Given the description of an element on the screen output the (x, y) to click on. 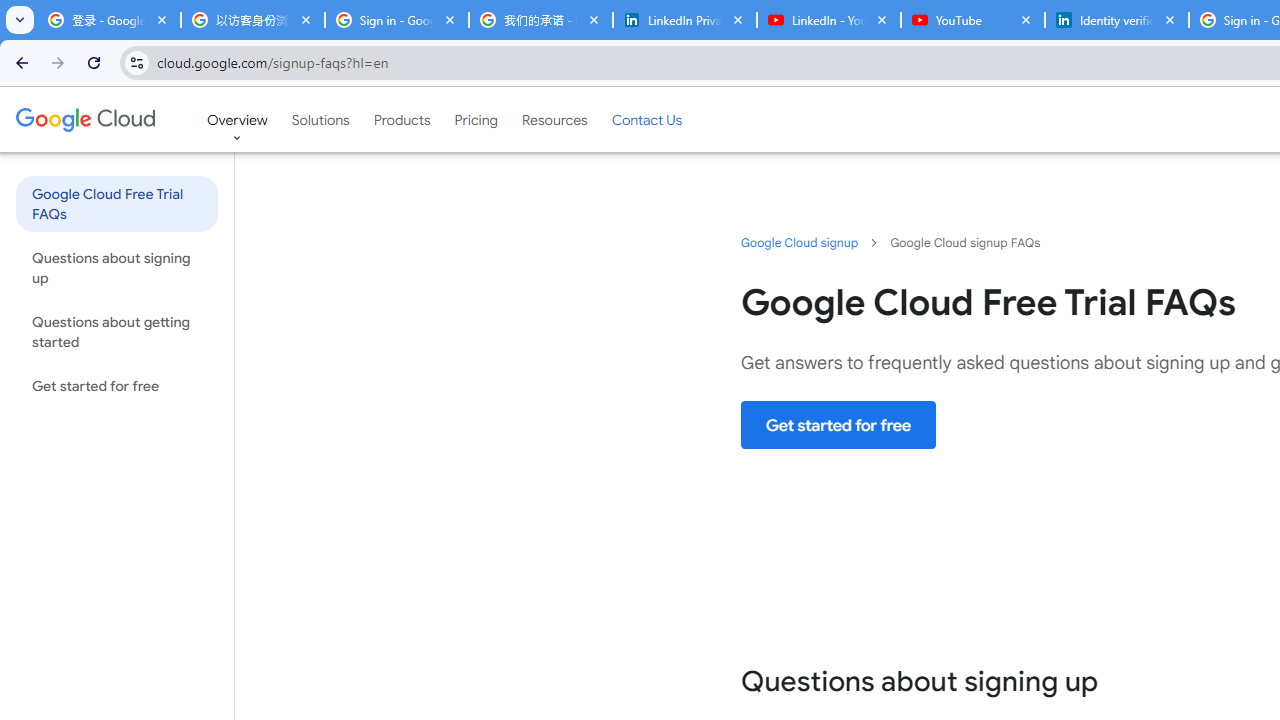
Questions about signing up (116, 267)
Get started for free (838, 425)
Resources (553, 119)
YouTube (972, 20)
Google Cloud signup (799, 241)
Identity verification via Persona | LinkedIn Help (1116, 20)
Pricing (476, 119)
Questions about getting started (116, 331)
